Given the description of an element on the screen output the (x, y) to click on. 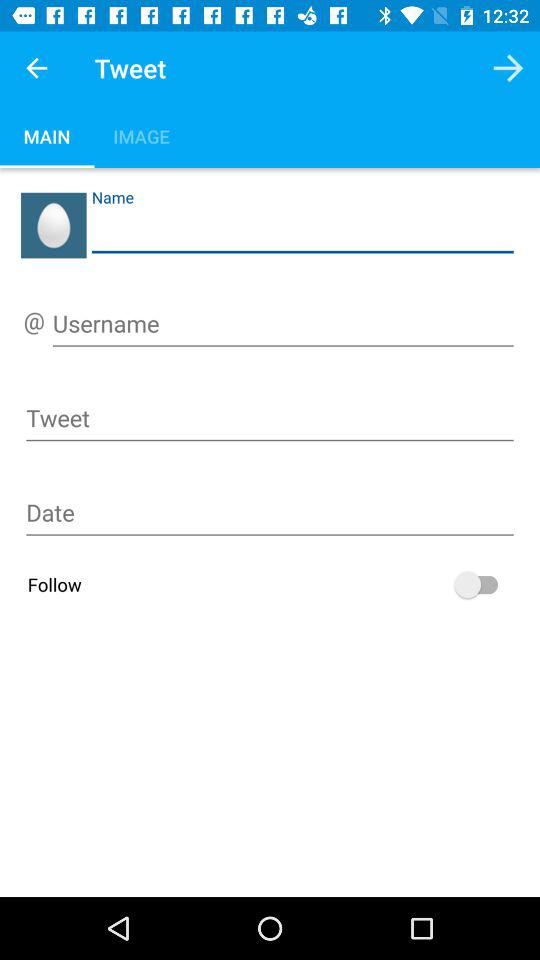
allow to enter name (302, 232)
